Given the description of an element on the screen output the (x, y) to click on. 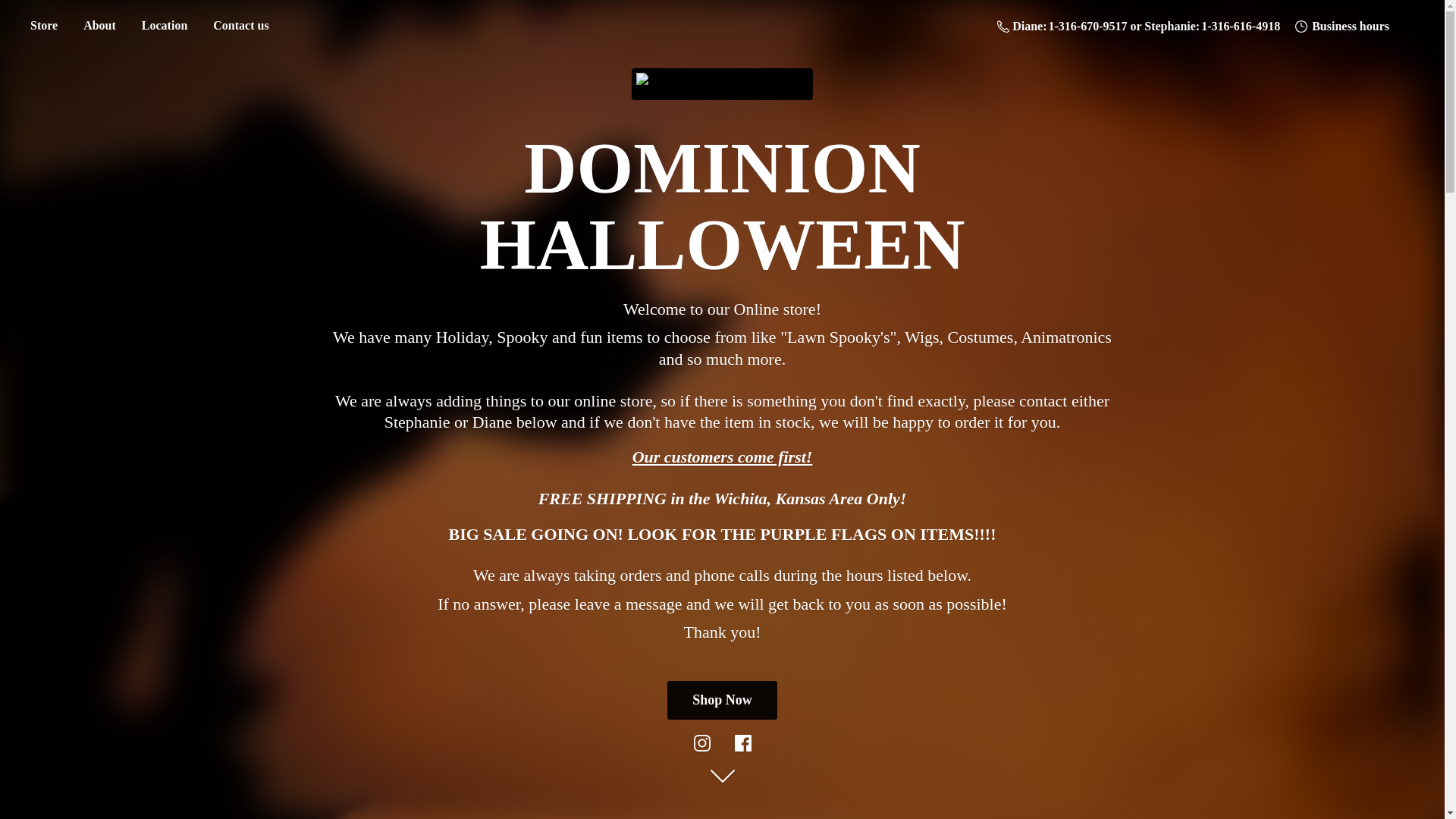
Location (164, 25)
Contact us (240, 25)
Store (43, 25)
About (99, 25)
Shop Now (721, 699)
Business hours (1341, 26)
